Given the description of an element on the screen output the (x, y) to click on. 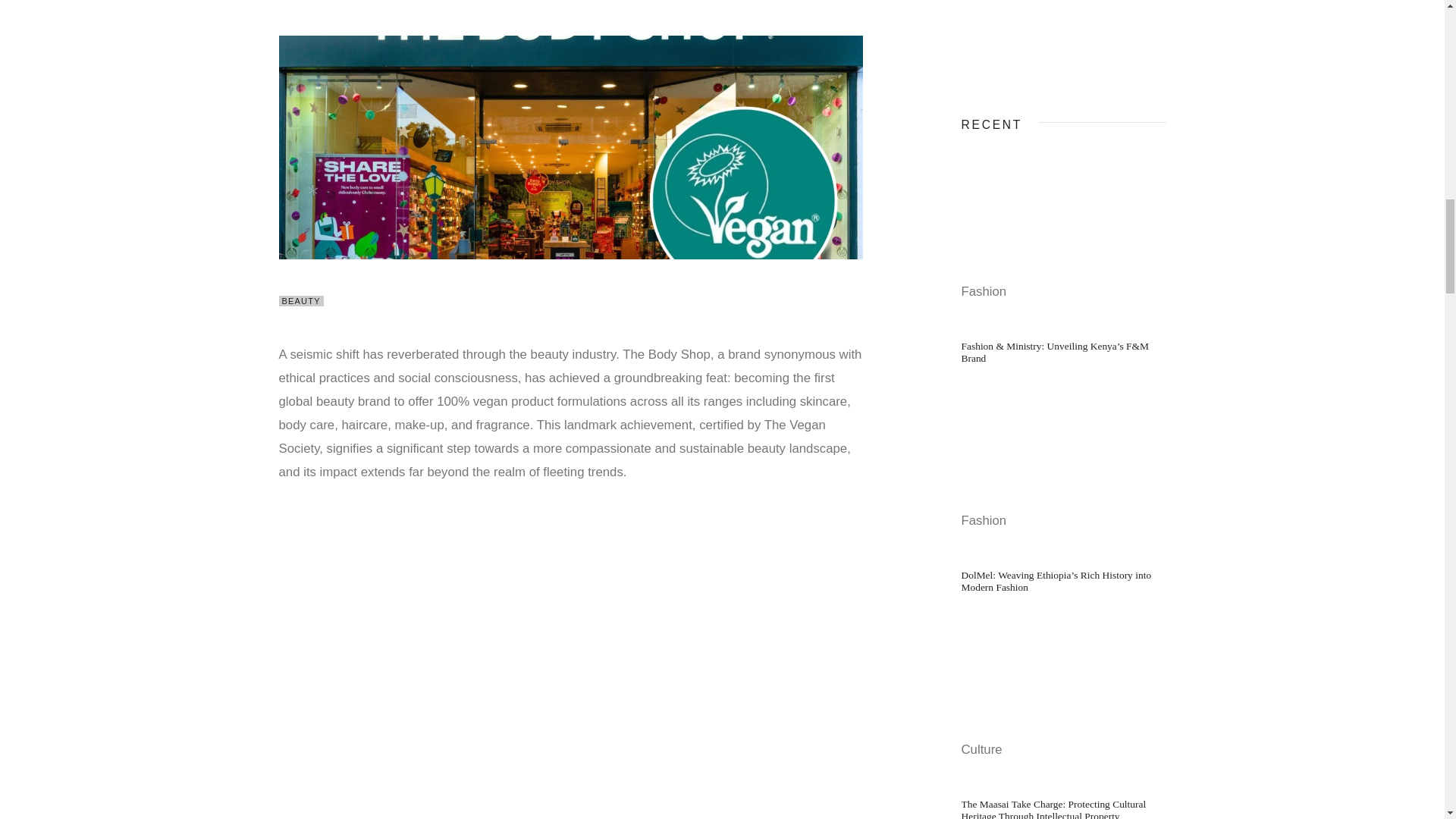
View all posts in Fashion (983, 291)
View all posts in Culture (981, 749)
View all posts in Fashion (983, 520)
